Given the description of an element on the screen output the (x, y) to click on. 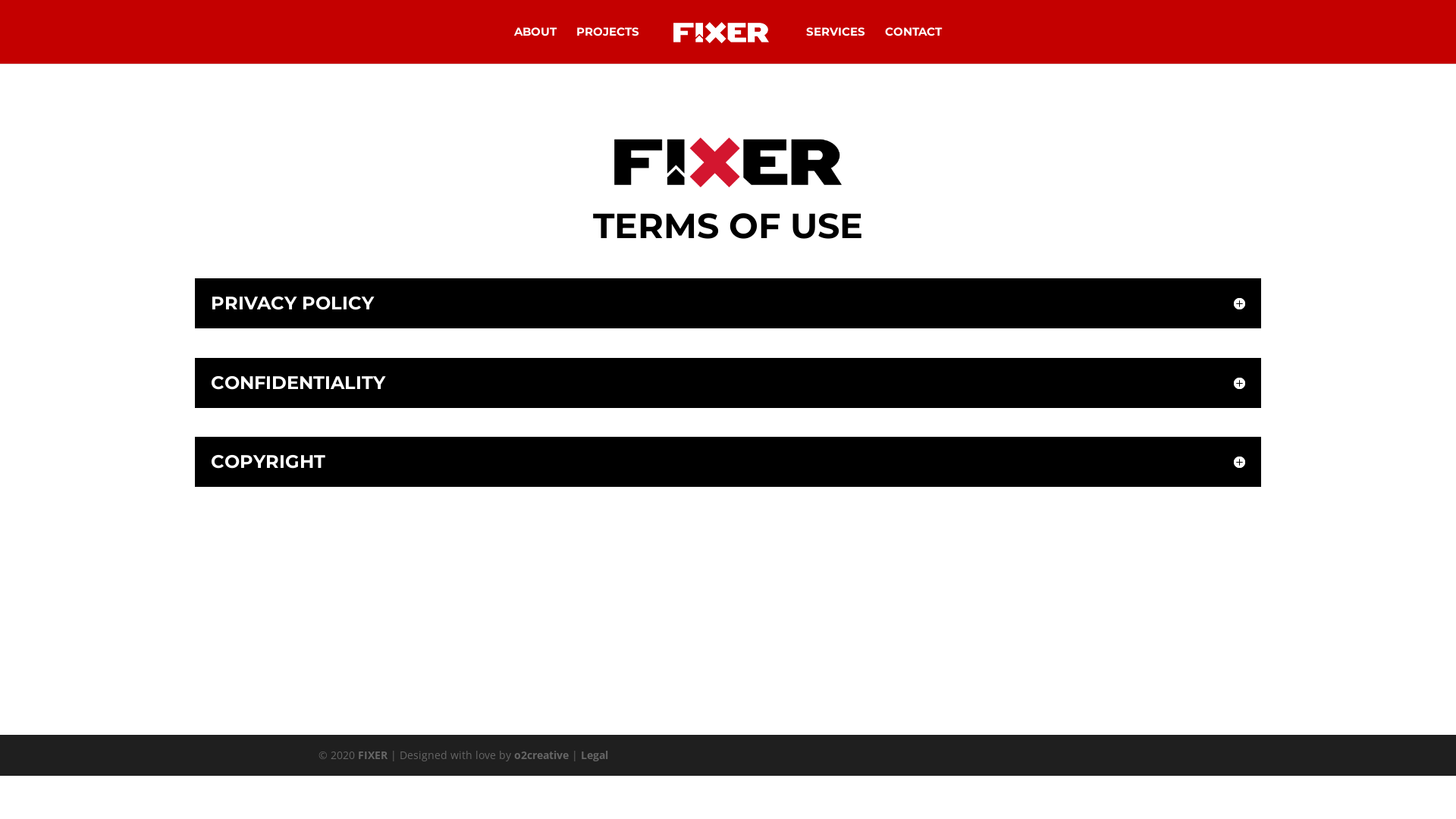
FIXER Element type: text (372, 754)
CONTACT Element type: text (912, 44)
Legal Element type: text (594, 754)
ABOUT Element type: text (535, 44)
o2creative Element type: text (541, 754)
PROJECTS Element type: text (607, 44)
SERVICES Element type: text (835, 44)
